Given the description of an element on the screen output the (x, y) to click on. 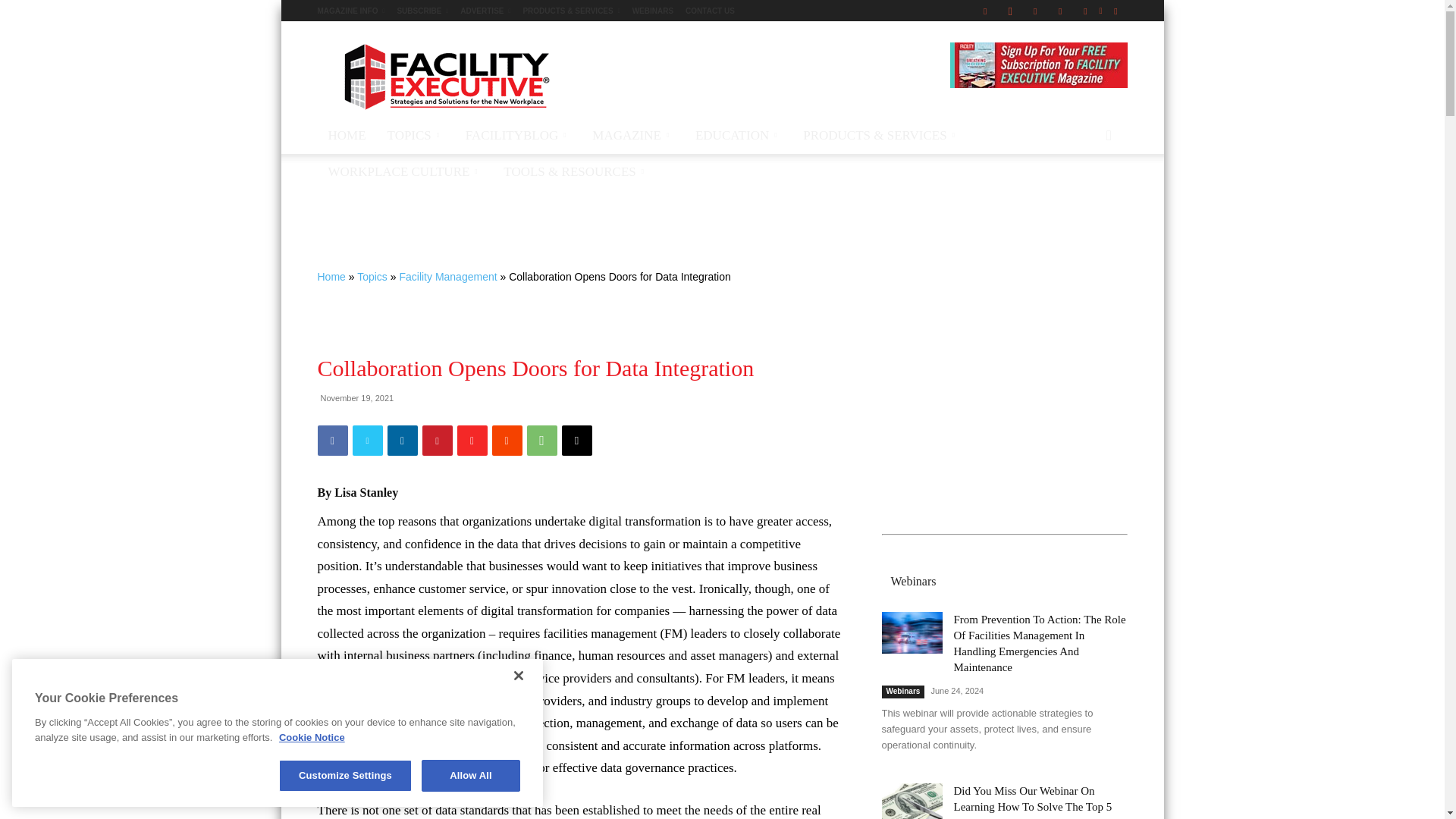
RSS (1085, 10)
Youtube (1114, 10)
Strategies and Solutions for the New Workplace (445, 76)
Pinterest (1059, 10)
Facebook (984, 10)
Linkedin (1034, 10)
Instagram (1010, 10)
